Given the description of an element on the screen output the (x, y) to click on. 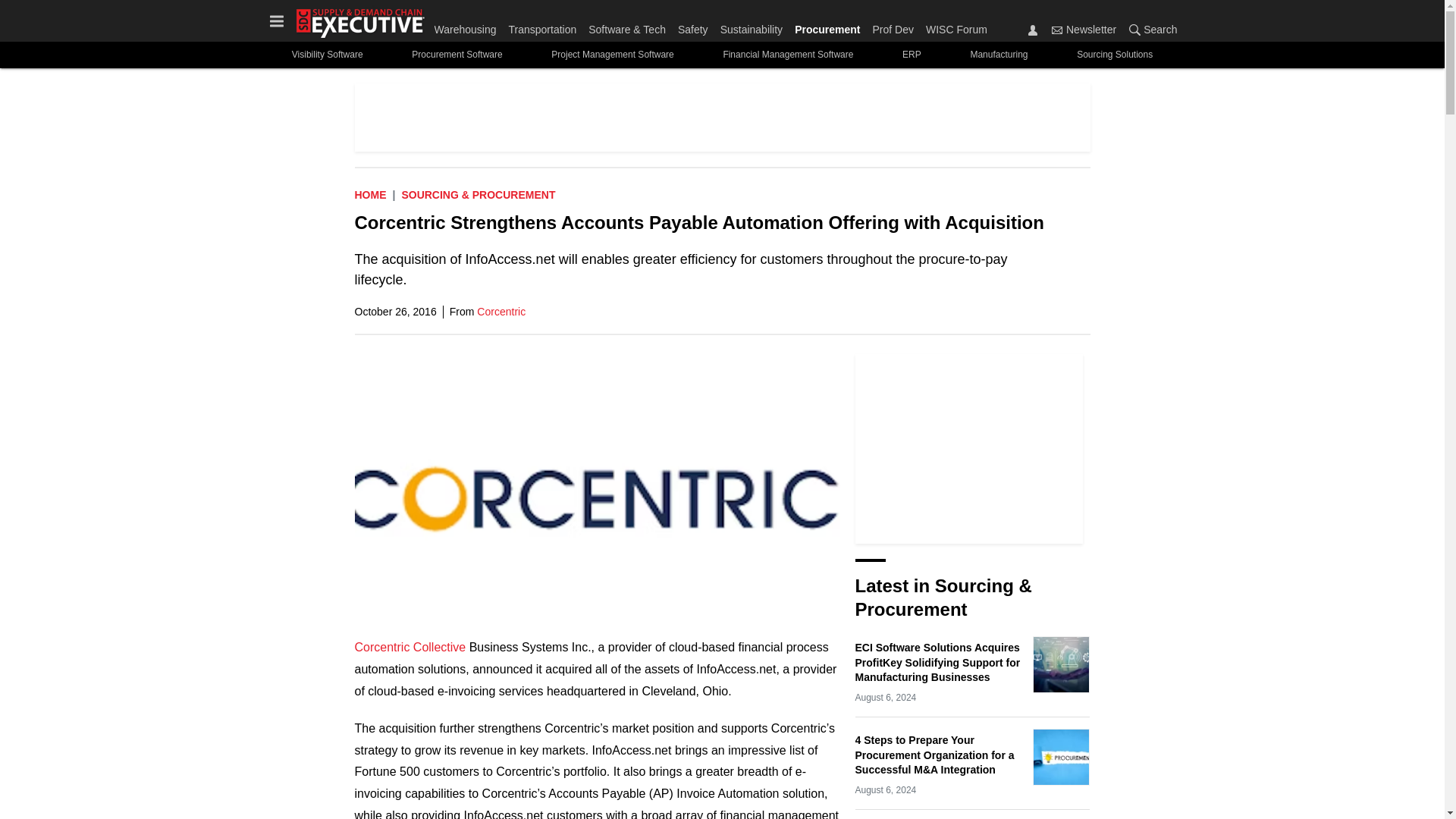
Search (1134, 29)
Newsletter (1056, 29)
3rd party ad content (722, 117)
Procurement Software (457, 54)
Procurement (827, 26)
Prof Dev (892, 26)
Warehousing (467, 26)
Sign In (1032, 29)
Transportation (542, 26)
Manufacturing (999, 54)
